Given the description of an element on the screen output the (x, y) to click on. 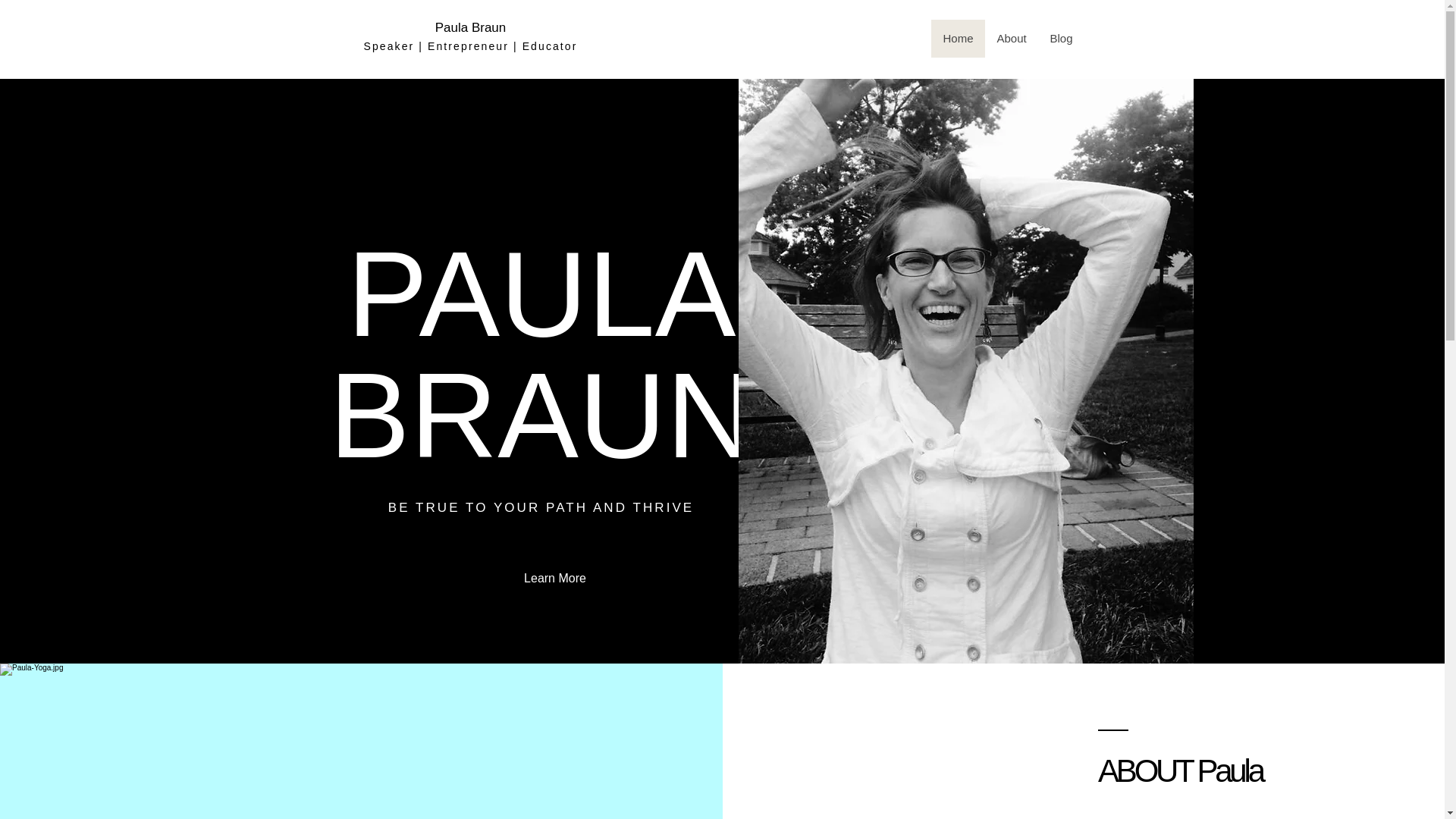
Blog (1059, 38)
Paula Braun (470, 27)
Learn More (555, 578)
About (1010, 38)
Home (958, 38)
